Given the description of an element on the screen output the (x, y) to click on. 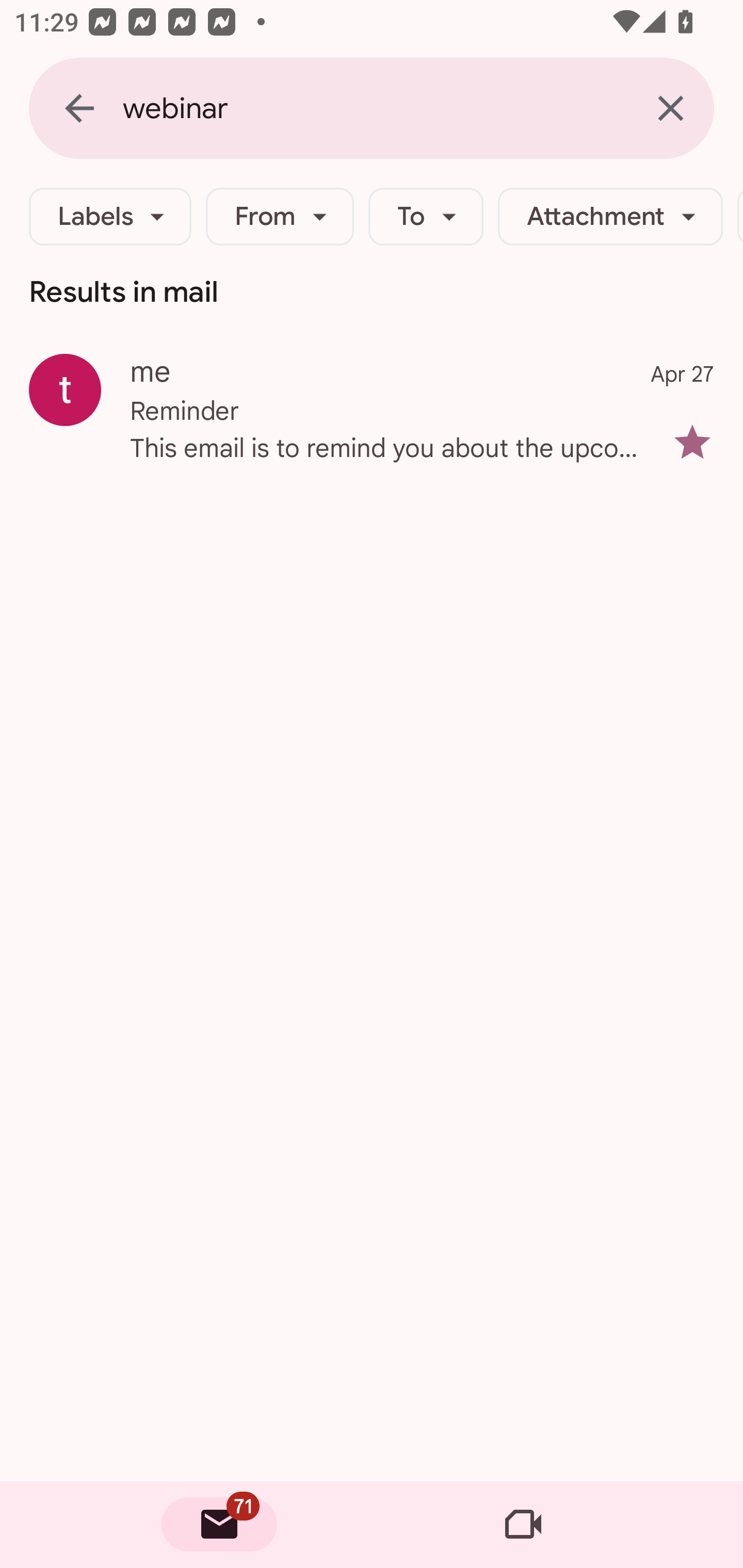
webinar Navigate up webinar Clear search text (371, 108)
Navigate up (79, 108)
Clear search text (670, 108)
Labels (109, 217)
From (279, 217)
To (425, 217)
Attachment (609, 217)
Meet (523, 1524)
